Given the description of an element on the screen output the (x, y) to click on. 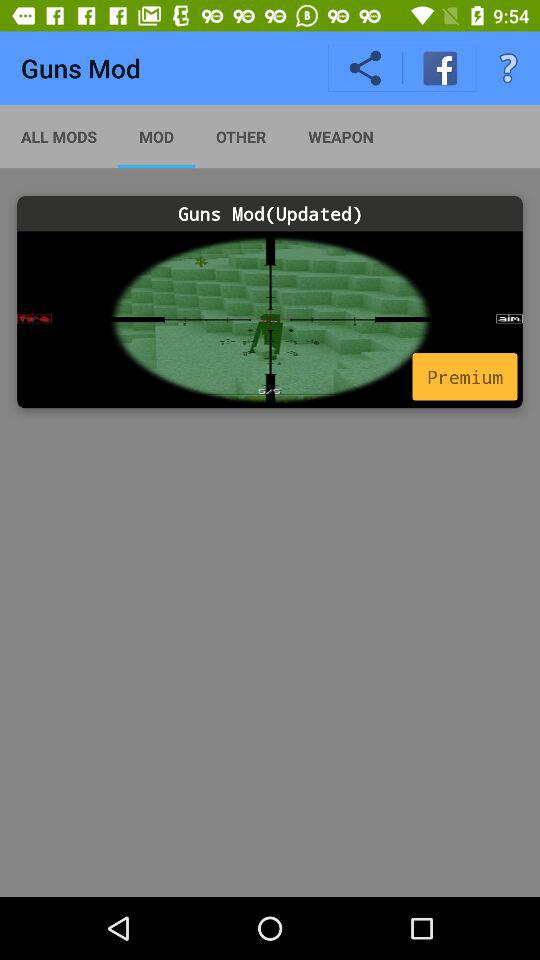
press the icon below guns mod(updated) (269, 319)
